Given the description of an element on the screen output the (x, y) to click on. 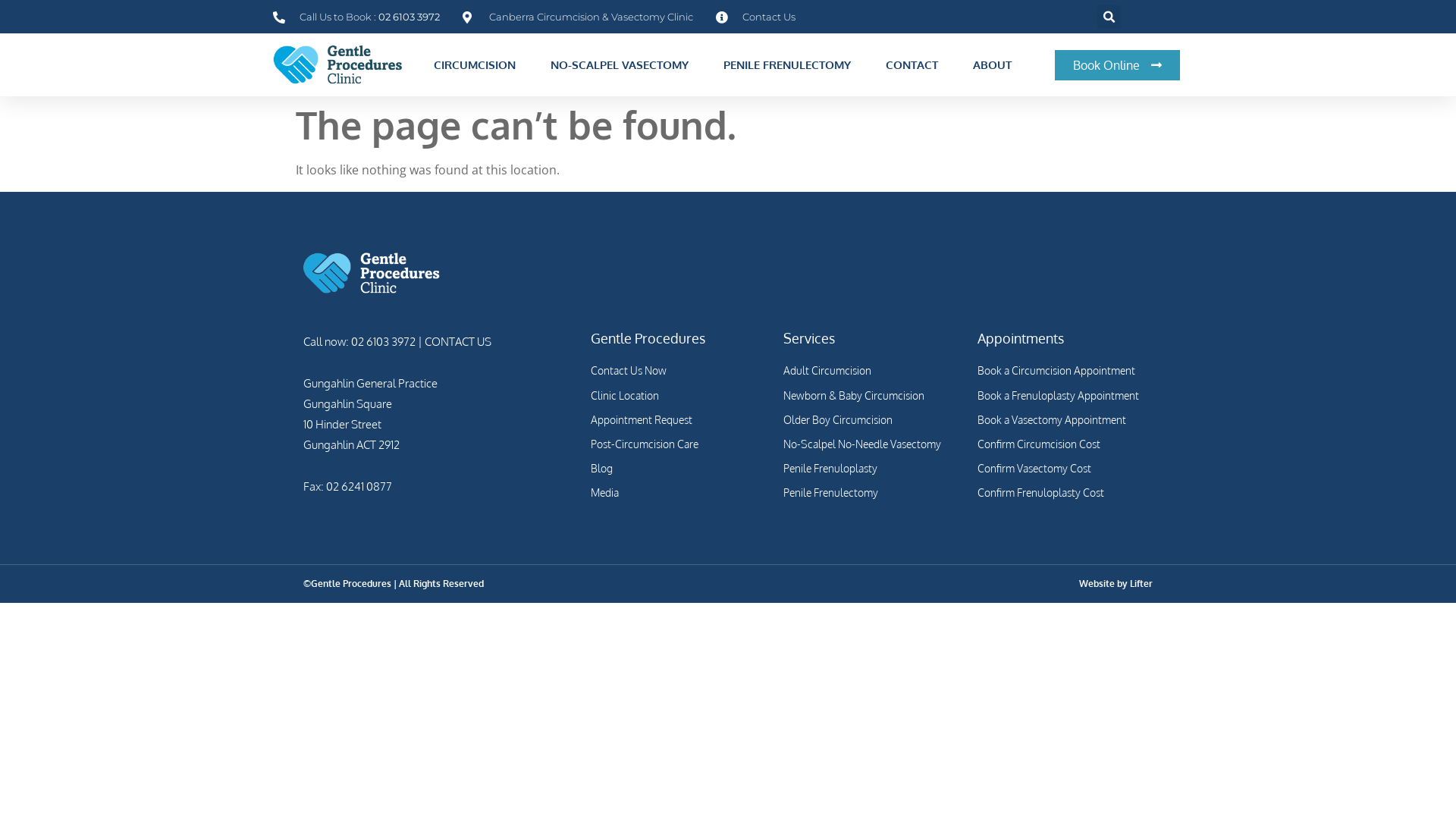
Clinic Location Element type: text (678, 395)
Book a Frenuloplasty Appointment Element type: text (1064, 395)
PENILE FRENULECTOMY Element type: text (790, 64)
CONTACT Element type: text (915, 64)
Book a Vasectomy Appointment Element type: text (1064, 419)
Media Element type: text (678, 492)
Canberra Circumcision & Vasectomy Clinic Element type: text (577, 16)
Book a Circumcision Appointment Element type: text (1064, 370)
CONTACT US Element type: text (456, 341)
Newborn & Baby Circumcision Element type: text (872, 395)
Penile Frenuloplasty Element type: text (872, 468)
NO-SCALPEL VASECTOMY Element type: text (623, 64)
Confirm Vasectomy Cost Element type: text (1064, 468)
Confirm Circumcision Cost Element type: text (1064, 443)
Call Us to Book : 02 6103 3972 Element type: text (356, 16)
Penile Frenulectomy Element type: text (872, 492)
Older Boy Circumcision Element type: text (872, 419)
Book Online Element type: text (1116, 65)
Blog Element type: text (678, 468)
Appointment Request Element type: text (678, 419)
Adult Circumcision Element type: text (872, 370)
ABOUT Element type: text (995, 64)
No-Scalpel No-Needle Vasectomy Element type: text (872, 443)
Contact Us Element type: text (755, 16)
Post-Circumcision Care Element type: text (678, 443)
Contact Us Now Element type: text (678, 370)
Lifter Element type: text (1140, 583)
Call now: 02 6103 3972 Element type: text (359, 341)
CIRCUMCISION Element type: text (478, 64)
Confirm Frenuloplasty Cost Element type: text (1064, 492)
